Given the description of an element on the screen output the (x, y) to click on. 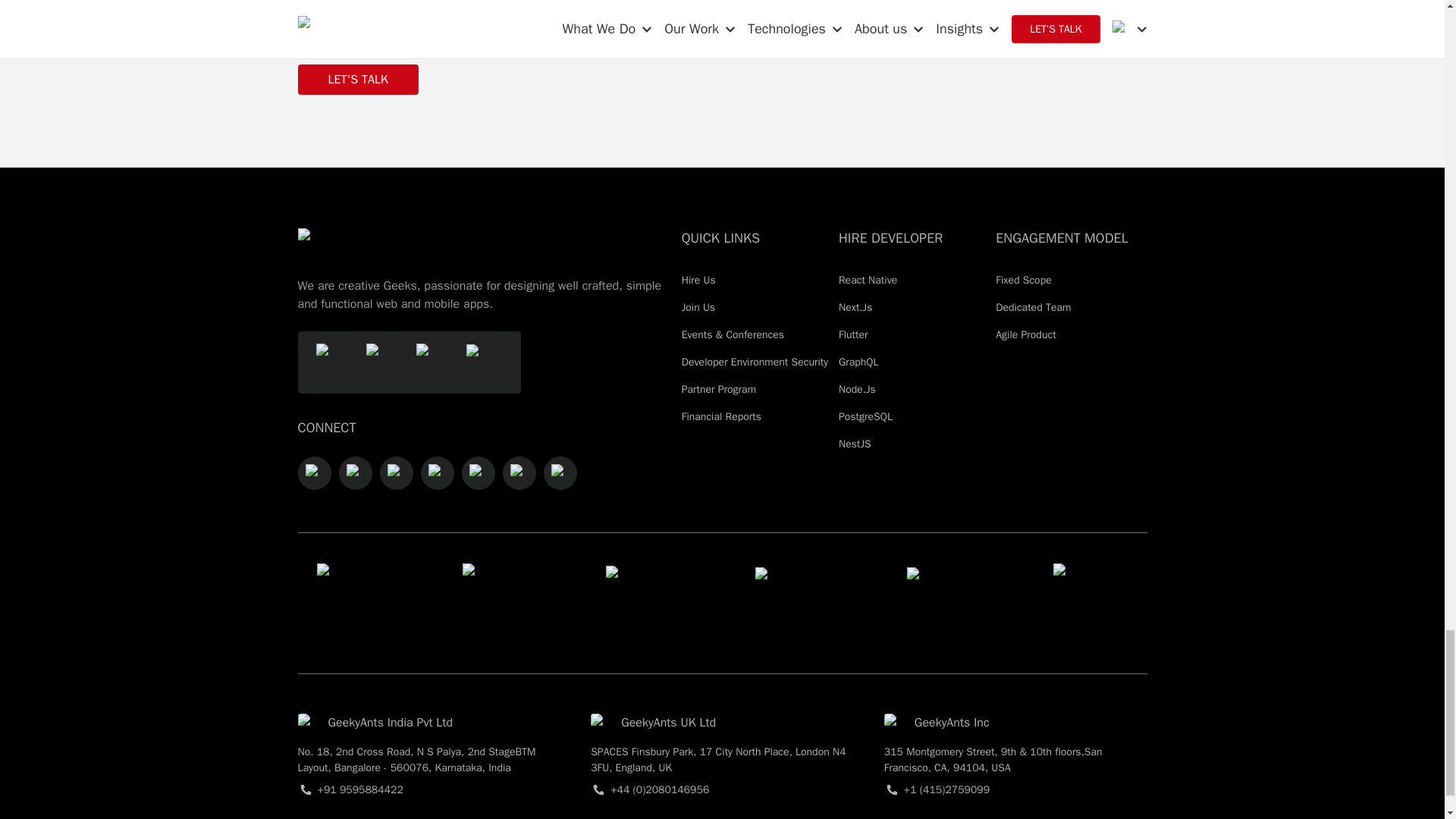
Flutter (914, 334)
LinkedIn GeekyAnts (436, 472)
React Native (914, 280)
Discord GeekyAnts (518, 472)
Instagram GeekyAnts (313, 473)
Hire Us (756, 280)
YouTube GeekyAnts (477, 473)
Next.Js (914, 307)
Instagram GeekyAnts (313, 472)
Facebook GeekyAnts (354, 472)
GraphQL (914, 361)
Twitter GeekyAnts (395, 472)
YouTube GeekyAnts (478, 472)
LinkedIn GeekyAnts (436, 473)
Join Us (756, 307)
